Given the description of an element on the screen output the (x, y) to click on. 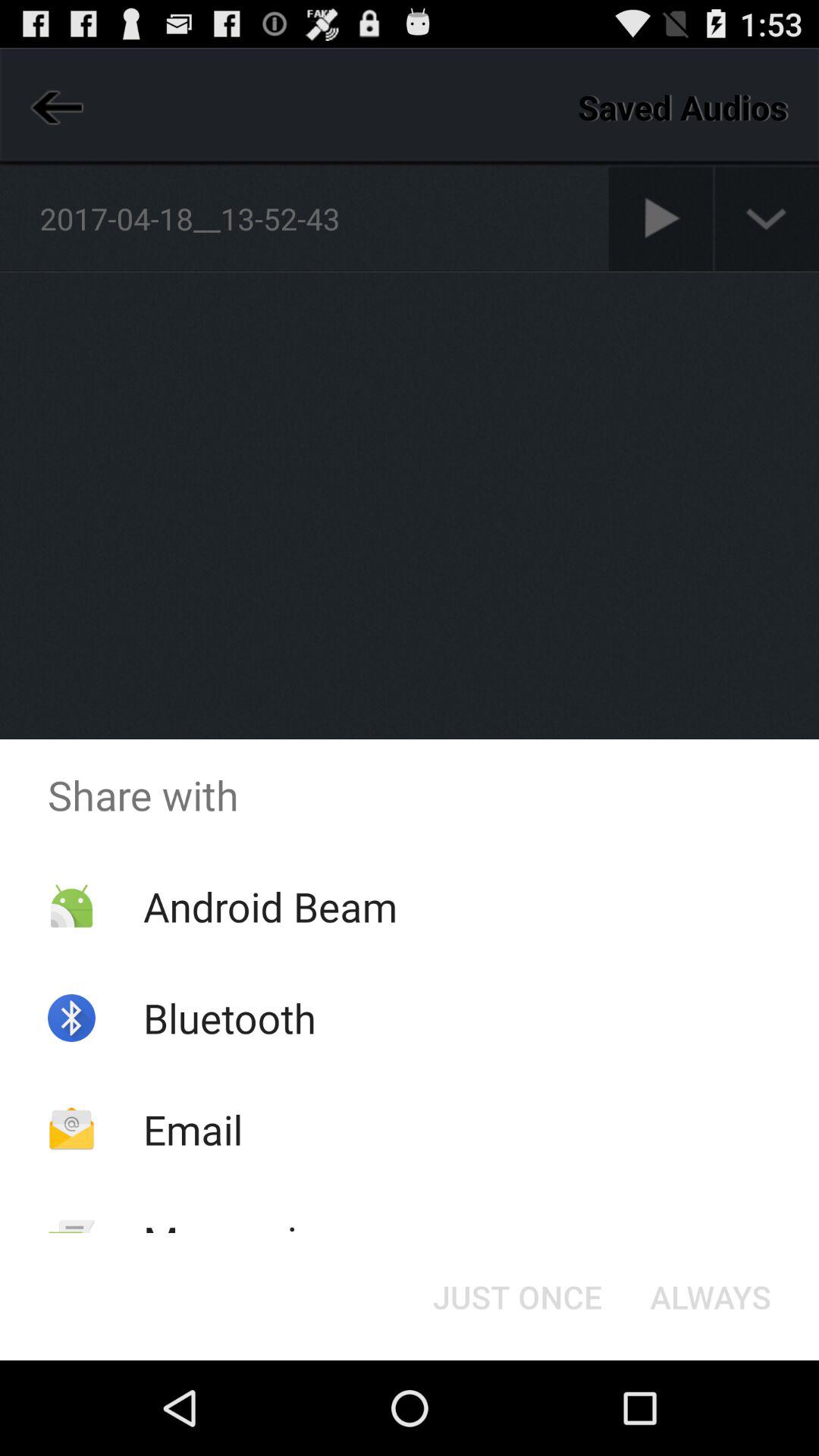
select android beam app (270, 905)
